Given the description of an element on the screen output the (x, y) to click on. 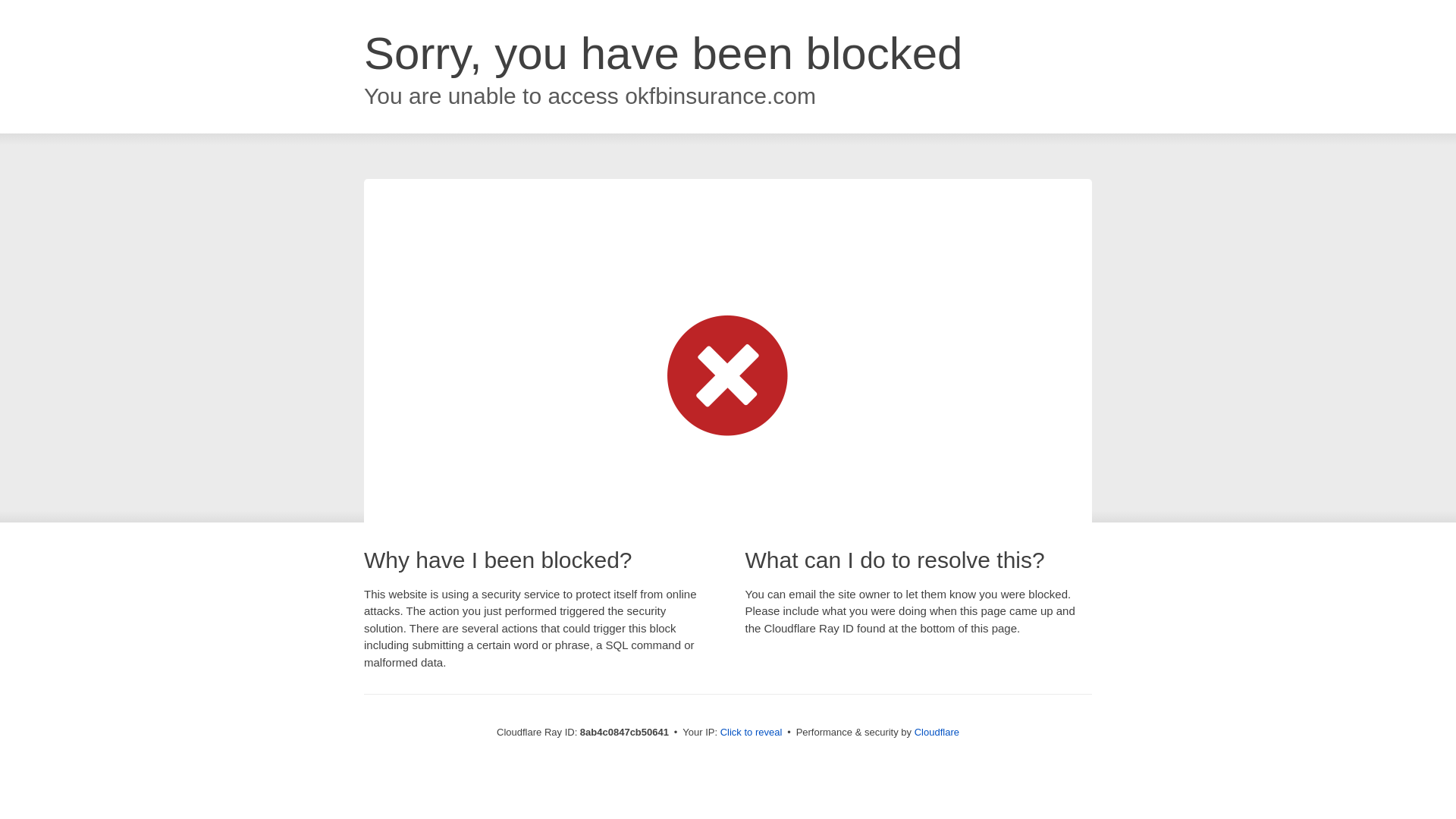
Click to reveal (751, 732)
Cloudflare (936, 731)
